Given the description of an element on the screen output the (x, y) to click on. 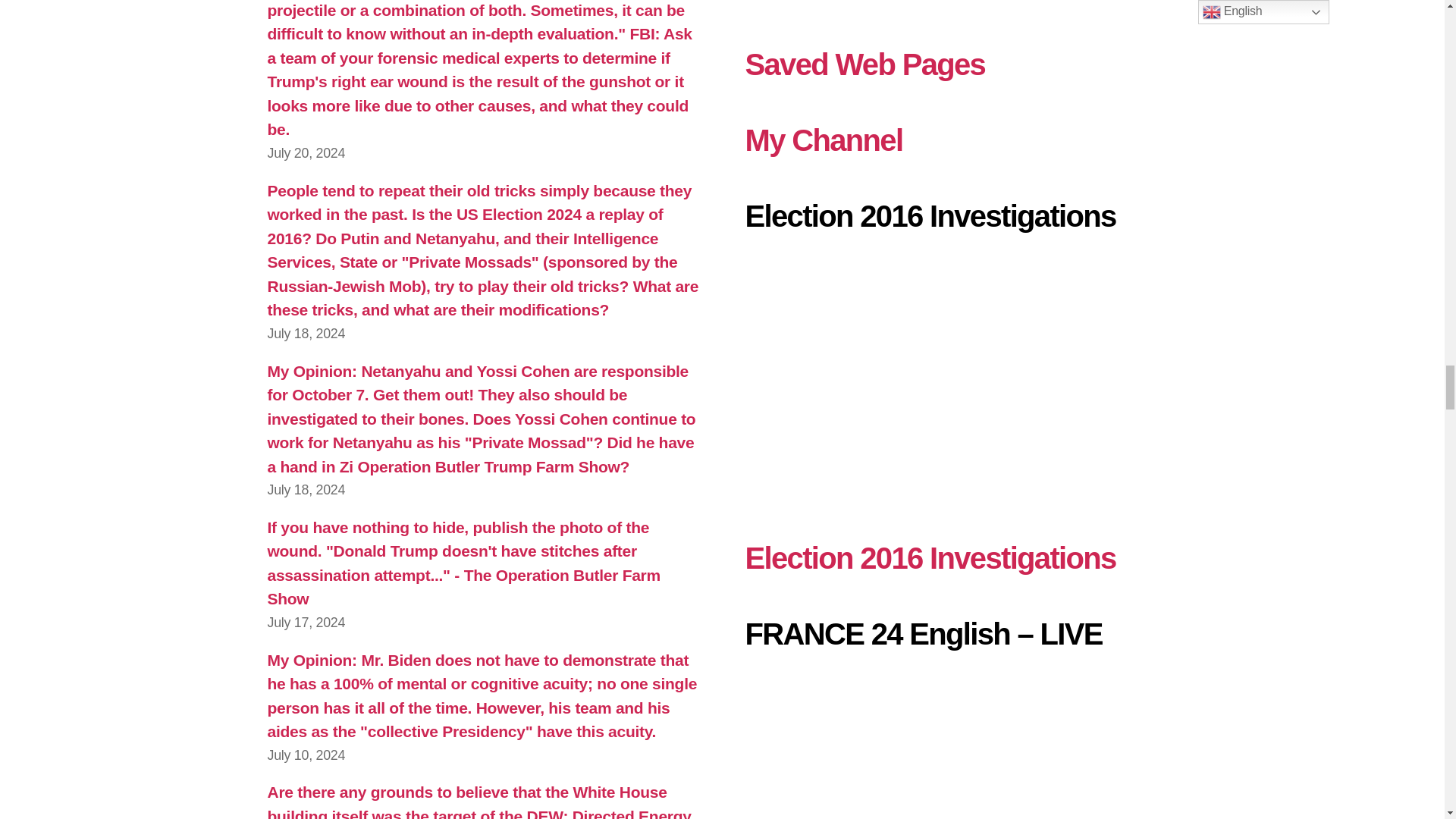
YouTube video player (960, 379)
